Given the description of an element on the screen output the (x, y) to click on. 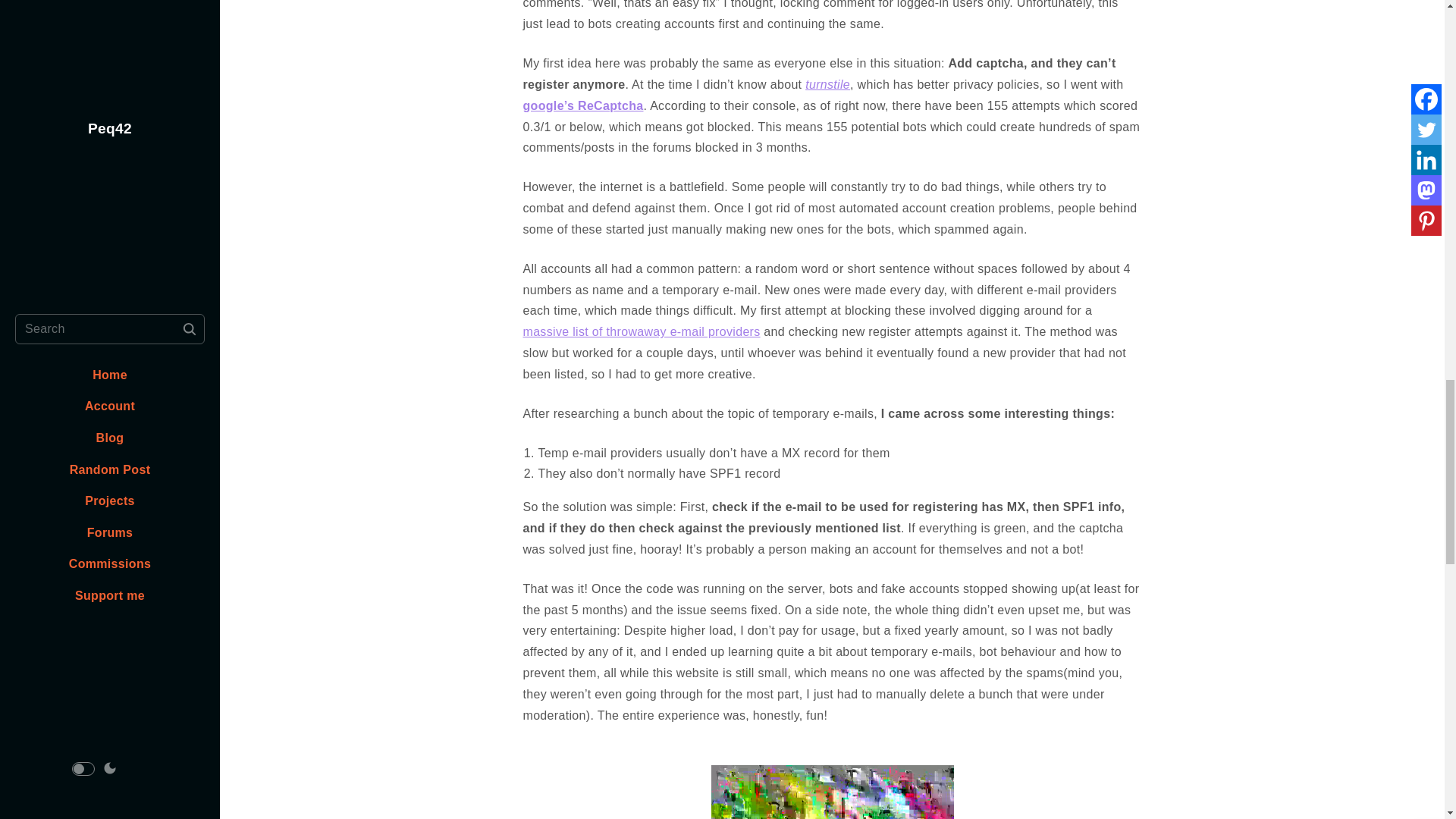
massive list of throwaway e-mail providers (641, 331)
turnstile (827, 83)
